Given the description of an element on the screen output the (x, y) to click on. 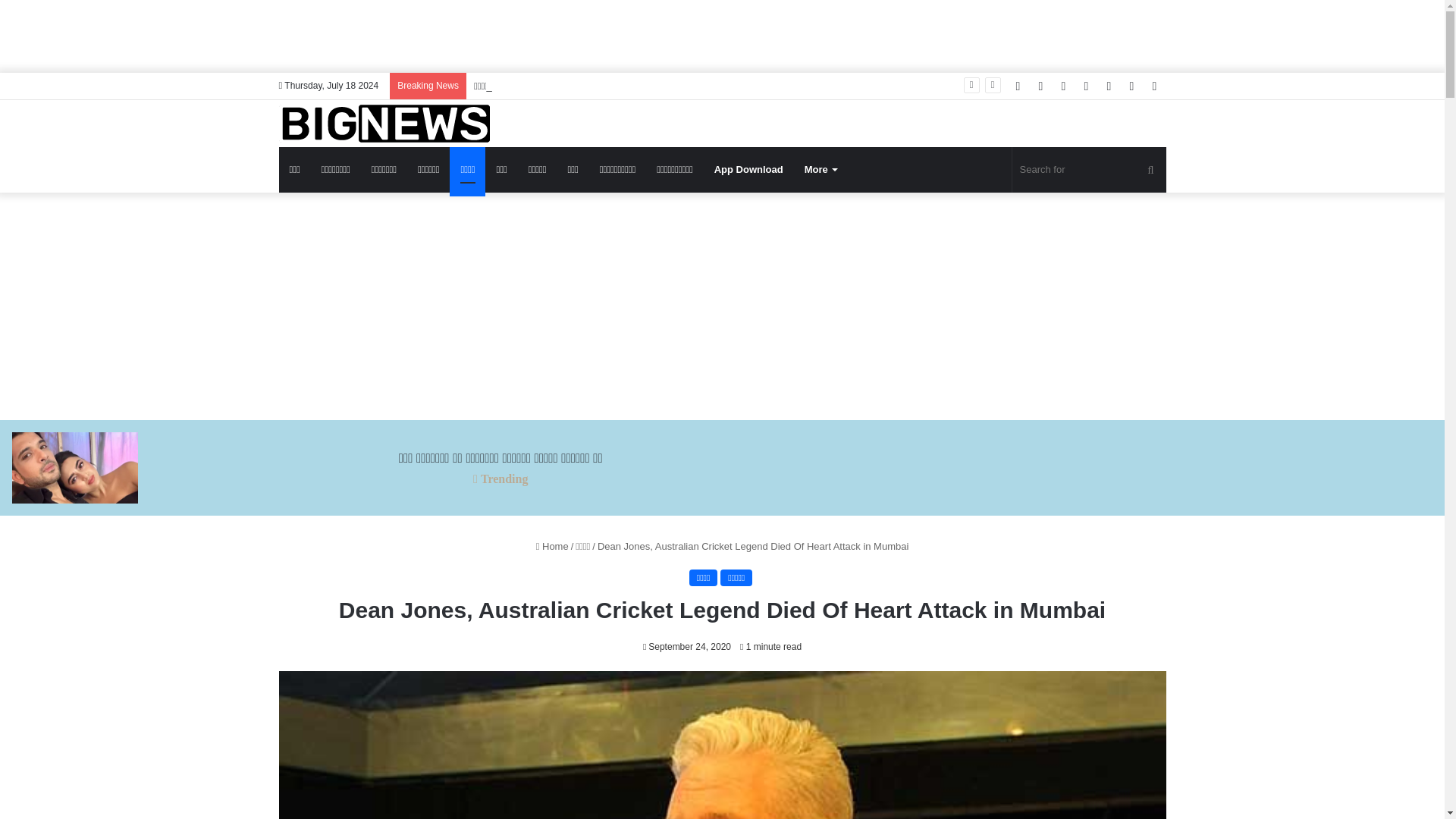
Instagram (1109, 85)
Random Article (1131, 85)
Search for (1150, 169)
Pinterest (1063, 85)
More (820, 169)
Advertisement (721, 33)
YouTube (1086, 85)
bignews (384, 123)
App Download (748, 169)
Facebook (1018, 85)
Twitter (1040, 85)
Home (552, 546)
Search for (1088, 169)
Random Article (1131, 85)
